Given the description of an element on the screen output the (x, y) to click on. 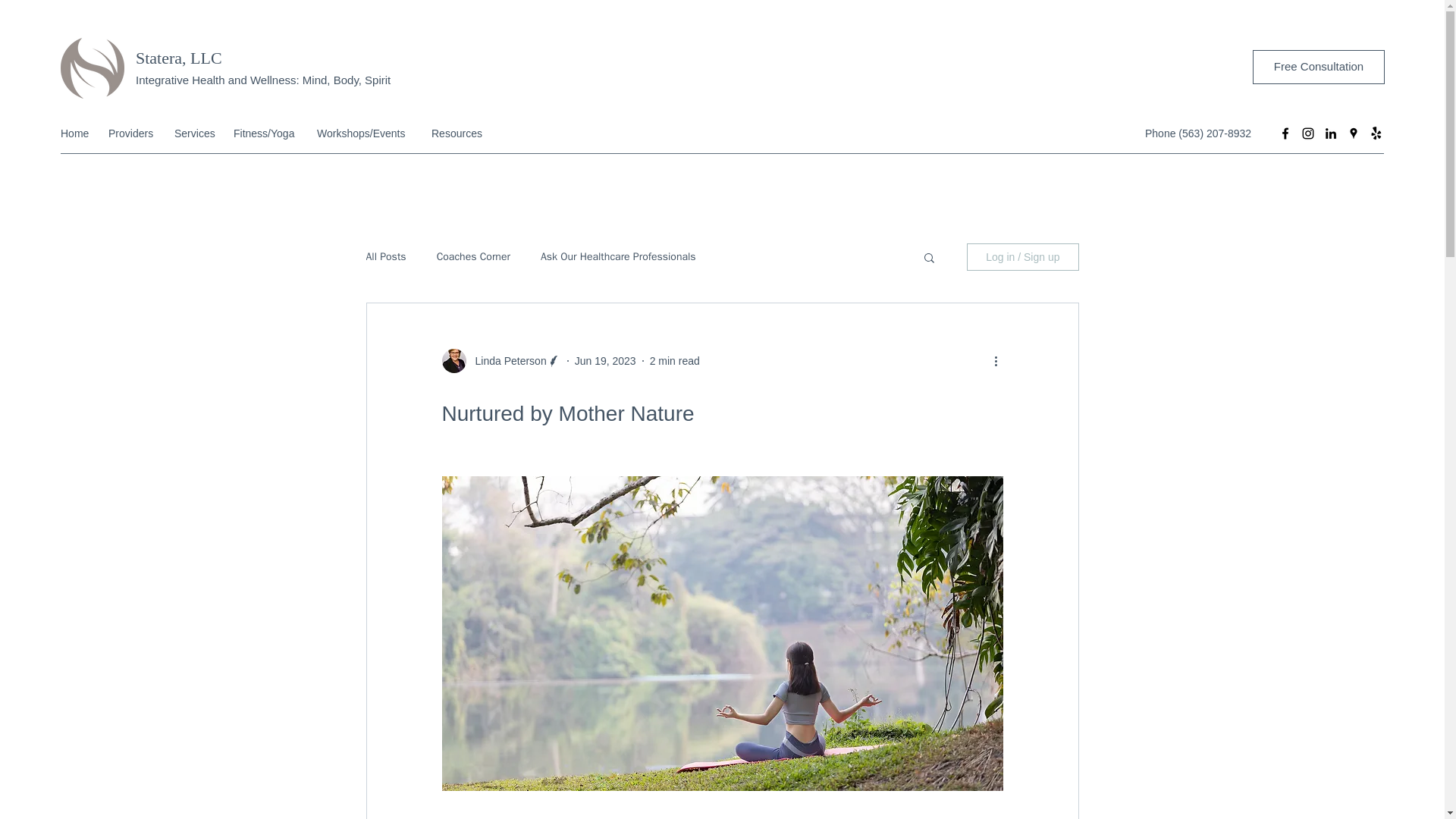
Resources (458, 133)
Providers (133, 133)
Jun 19, 2023 (605, 360)
Linda Peterson (505, 360)
Coaches Corner (473, 256)
All Posts (385, 256)
Free Consultation (1318, 66)
Statera, LLC (178, 57)
2 min read (674, 360)
Home (76, 133)
Services (196, 133)
Ask Our Healthcare Professionals (617, 256)
